Given the description of an element on the screen output the (x, y) to click on. 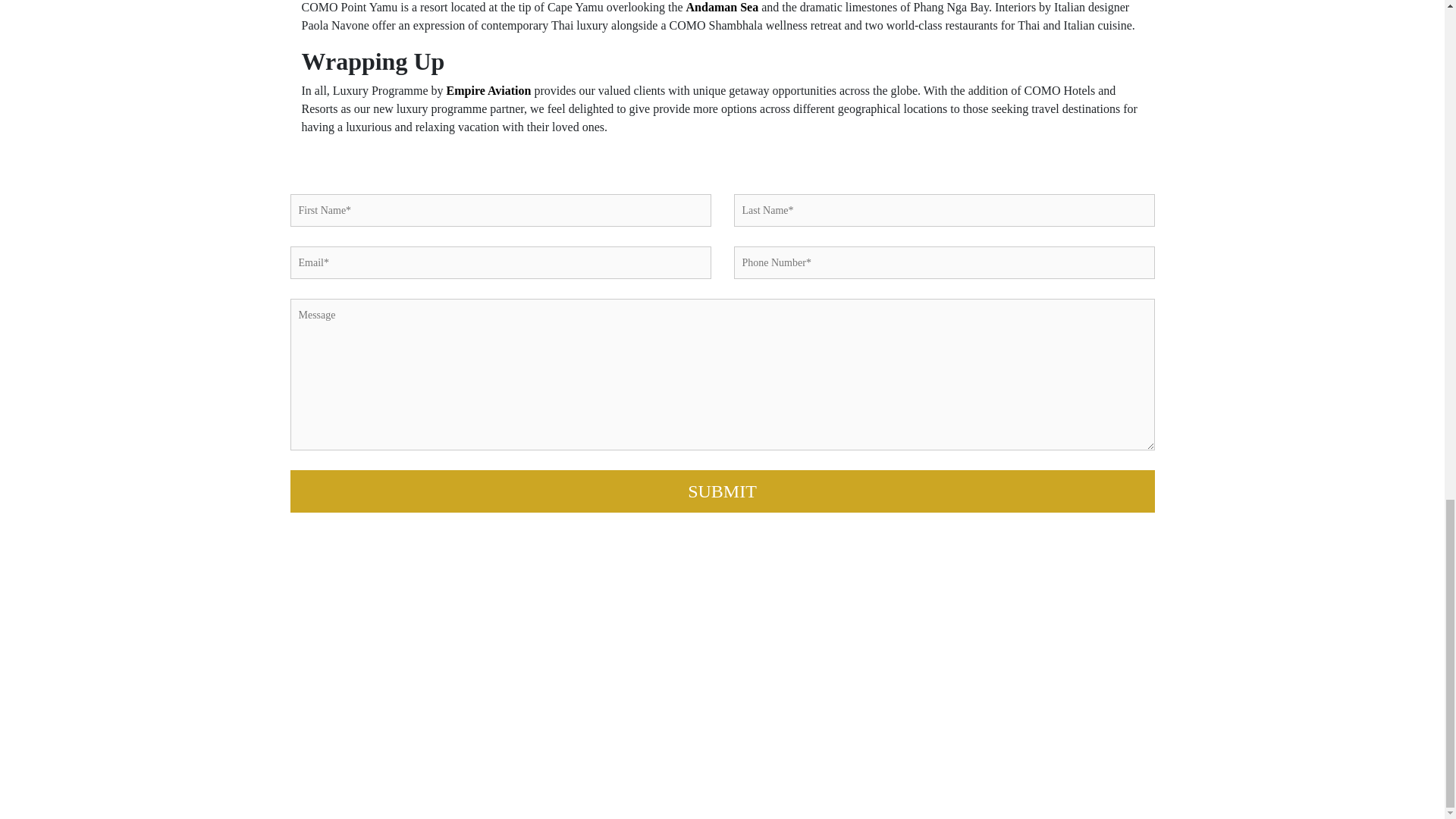
Submit (721, 491)
Disclaimer (1077, 671)
Privacy Policy (1084, 653)
Careers (1070, 634)
Submit (721, 491)
Andaman Sea (721, 6)
Empire Aviation (488, 90)
